Given the description of an element on the screen output the (x, y) to click on. 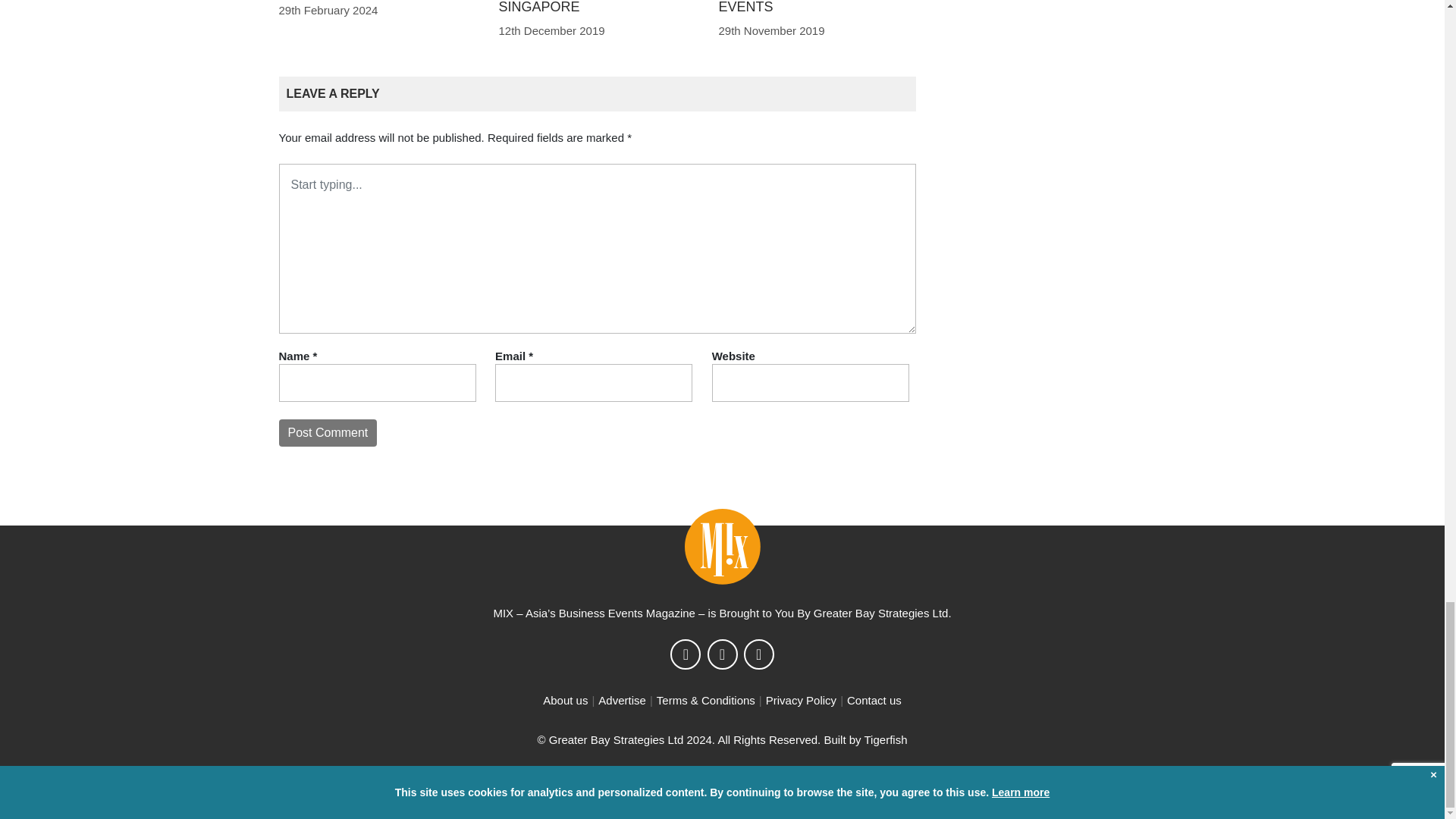
Post Comment (328, 432)
LOGISTICAL MOVES IN EVENTS (792, 7)
Post Comment (328, 432)
DISCOVERING AUTHENTIC SINGAPORE (586, 7)
